Given the description of an element on the screen output the (x, y) to click on. 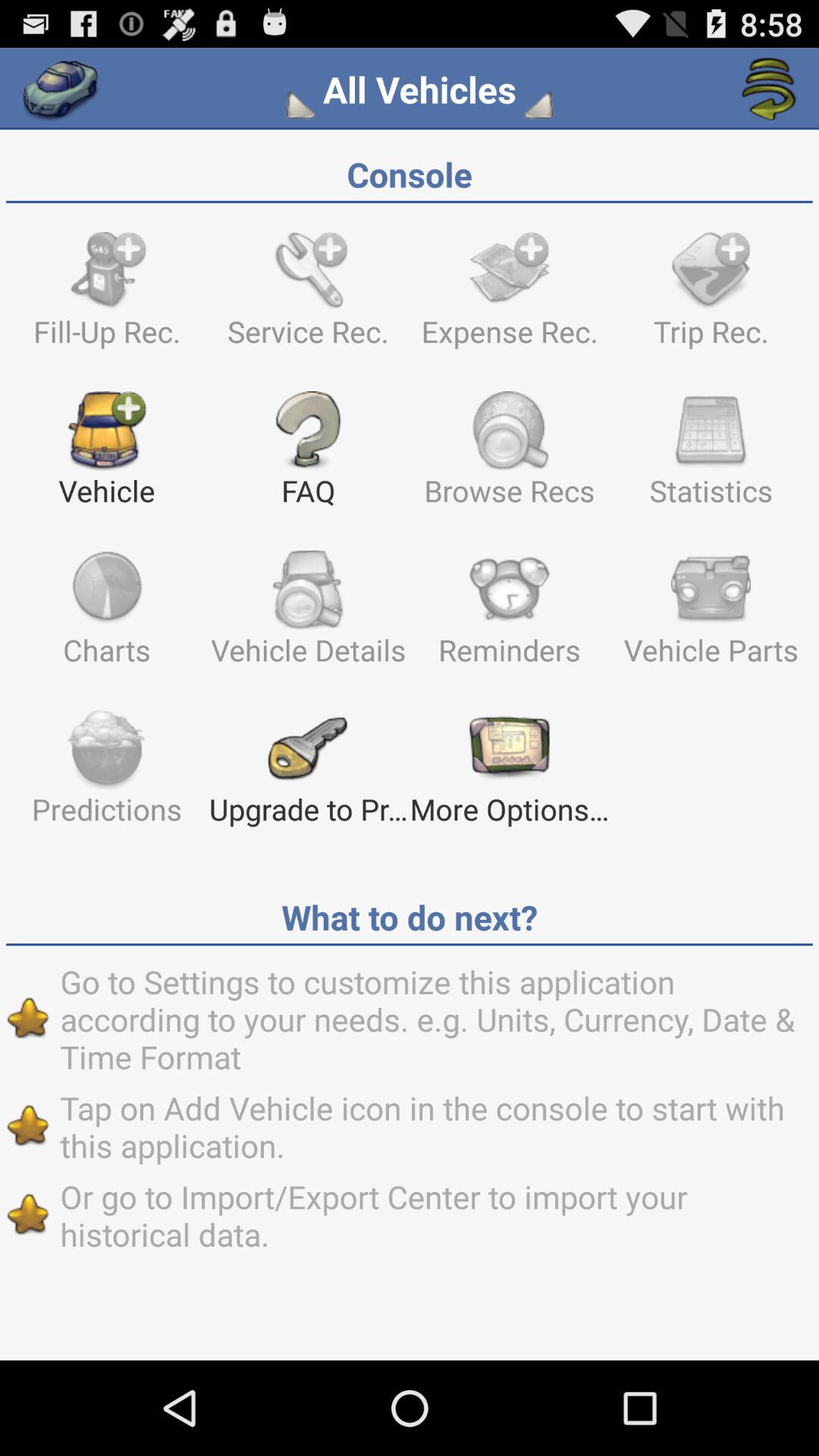
launch the all vehicles app (419, 89)
